Given the description of an element on the screen output the (x, y) to click on. 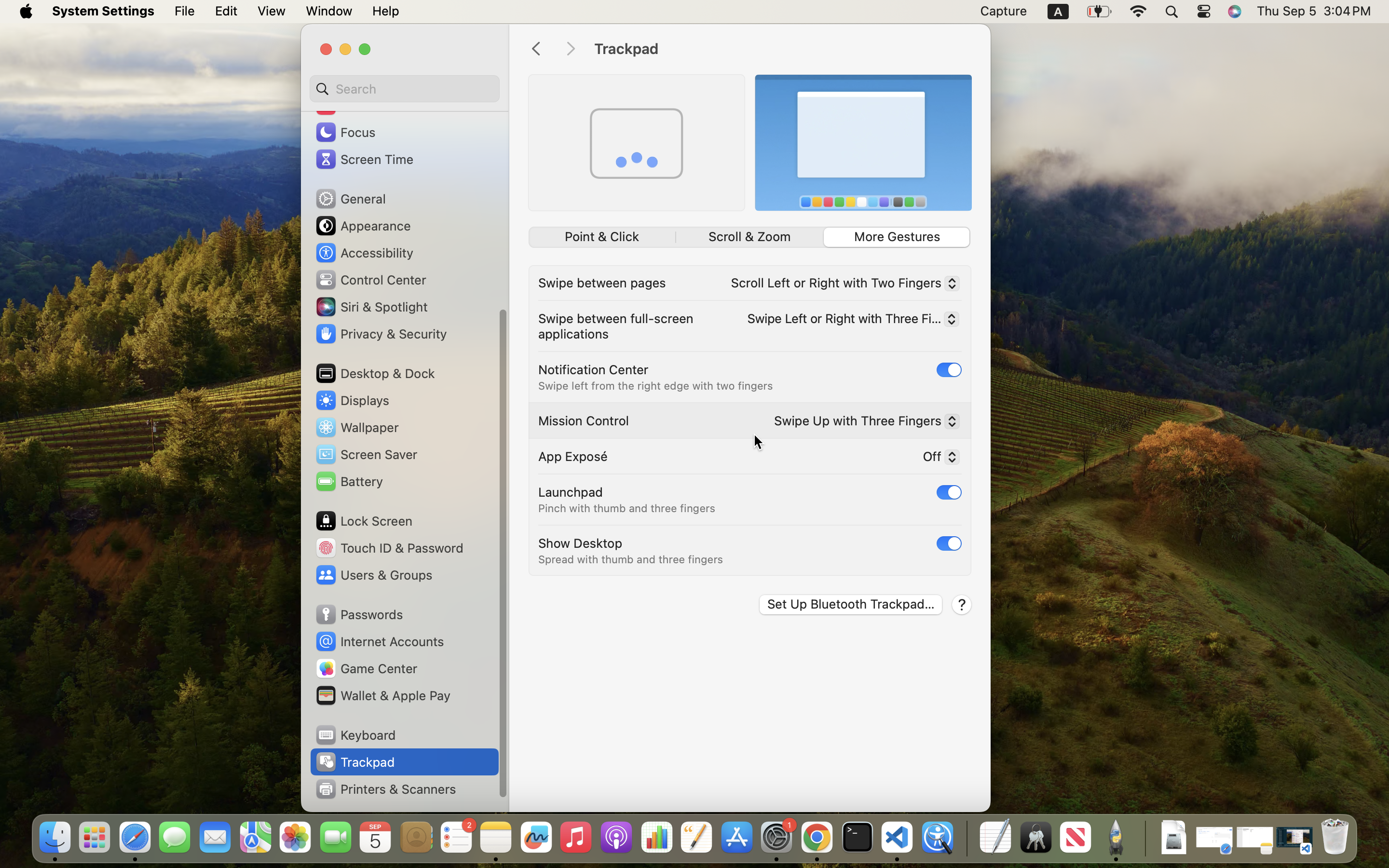
Internet Accounts Element type: AXStaticText (378, 640)
Battery Element type: AXStaticText (348, 480)
Wallpaper Element type: AXStaticText (356, 426)
Accessibility Element type: AXStaticText (363, 252)
Pinch with thumb and three fingers Element type: AXStaticText (626, 508)
